Given the description of an element on the screen output the (x, y) to click on. 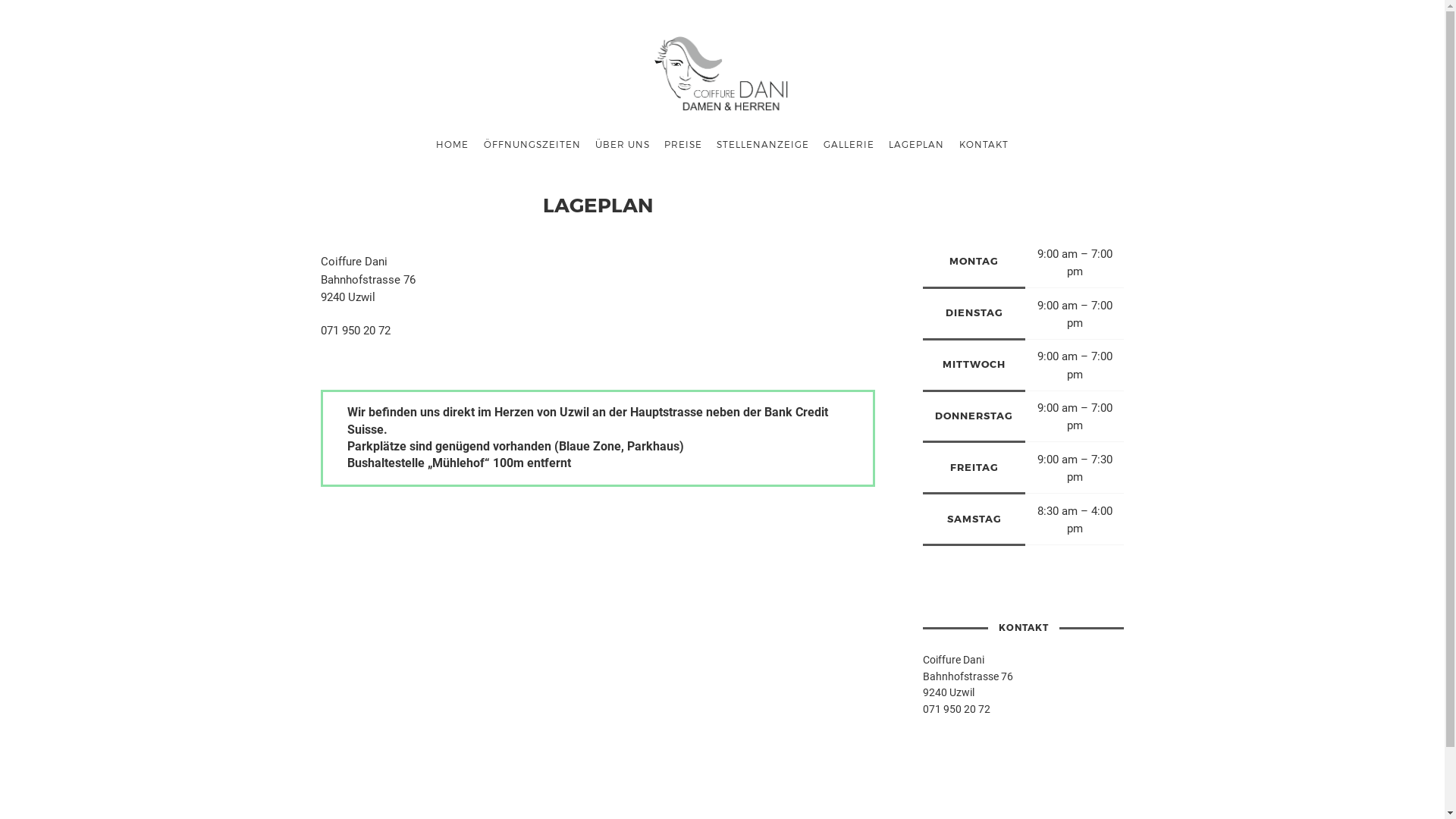
KONTAKT Element type: text (983, 144)
LAGEPLAN Element type: text (916, 144)
STELLENANZEIGE Element type: text (762, 144)
HOME Element type: text (452, 144)
PREISE Element type: text (682, 144)
GALLERIE Element type: text (848, 144)
